Given the description of an element on the screen output the (x, y) to click on. 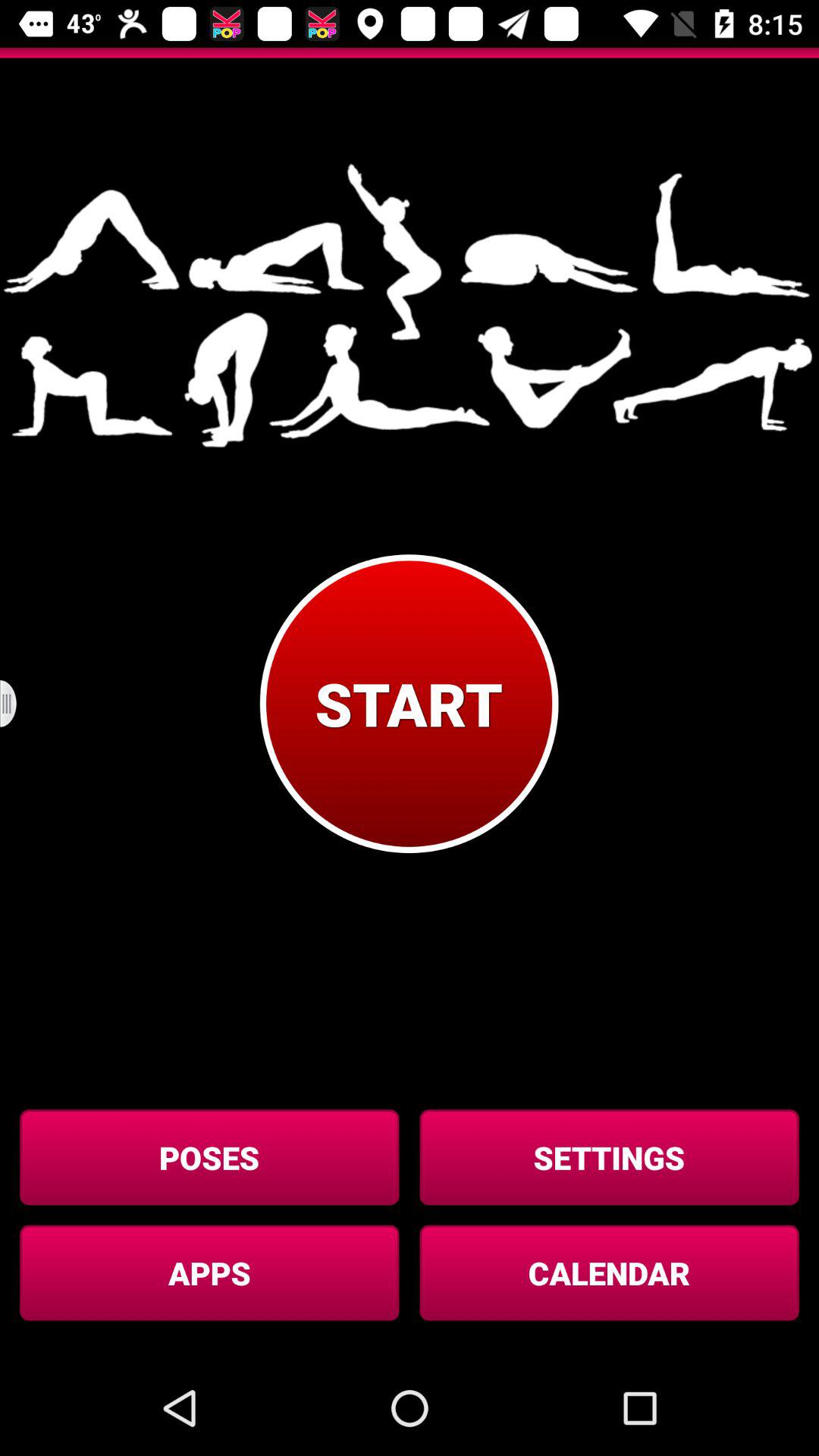
turn off the button below start (209, 1157)
